Given the description of an element on the screen output the (x, y) to click on. 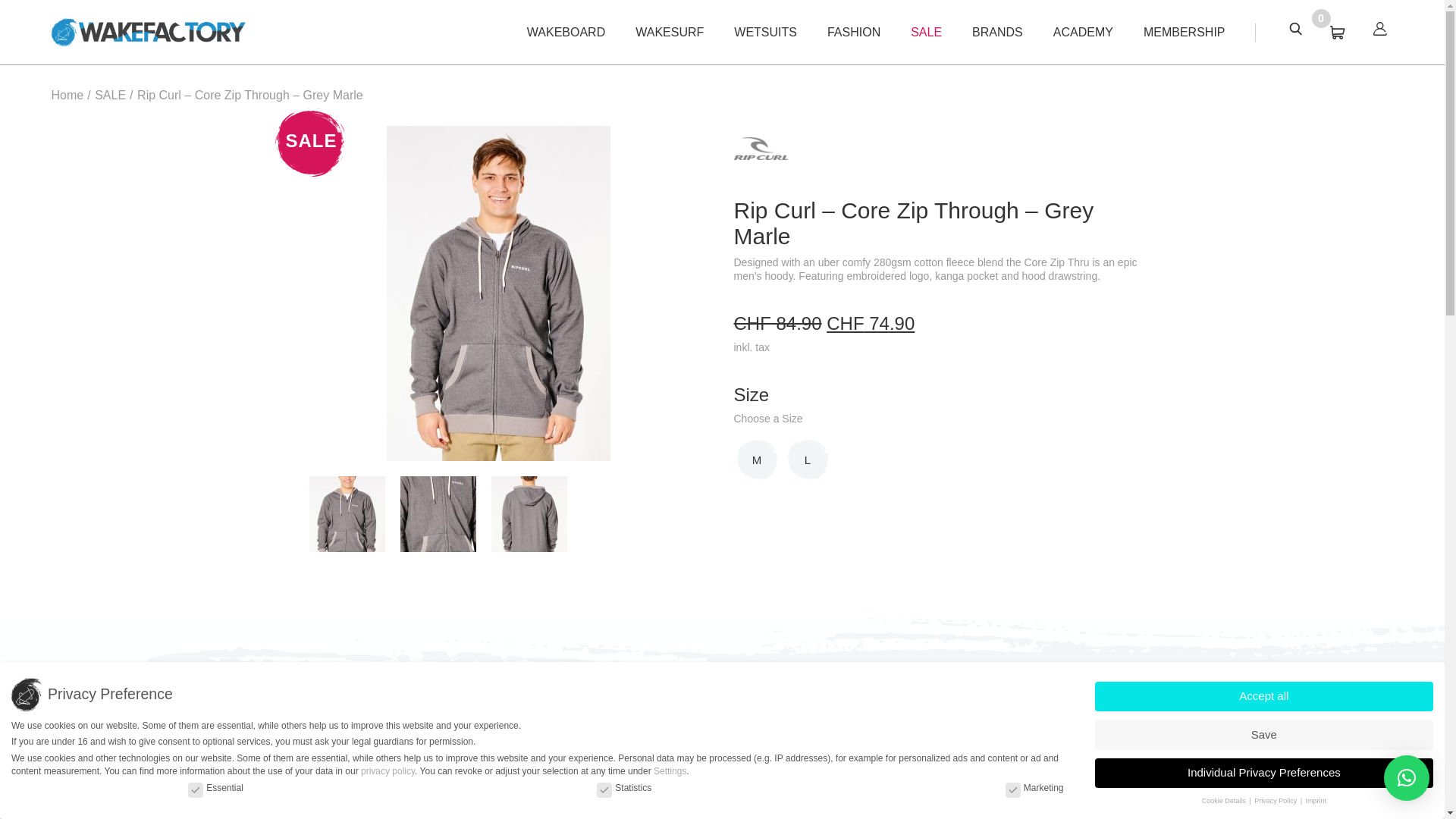
WAKESURF (668, 31)
BRANDS (997, 31)
ACADEMY (1082, 31)
WakeFactory (148, 32)
Home (67, 94)
MEMBERSHIP (1183, 31)
SALE (926, 31)
SALE (109, 94)
WETSUITS (764, 31)
Search (1294, 28)
FASHION (853, 31)
WAKEBOARD (566, 31)
Profile (1380, 28)
